Given the description of an element on the screen output the (x, y) to click on. 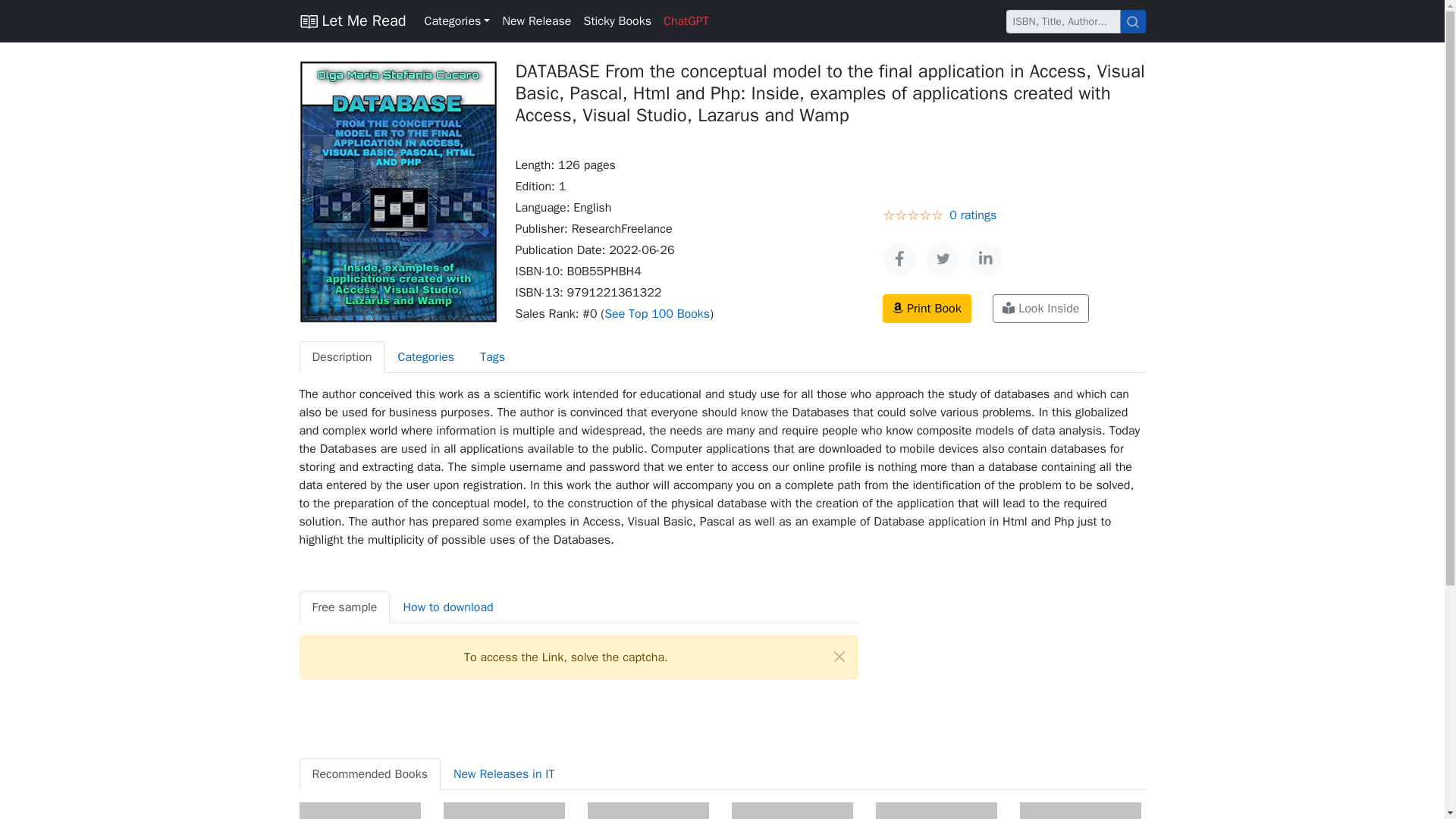
Categories (457, 20)
 Let Me Read (352, 20)
New Release (536, 20)
